Given the description of an element on the screen output the (x, y) to click on. 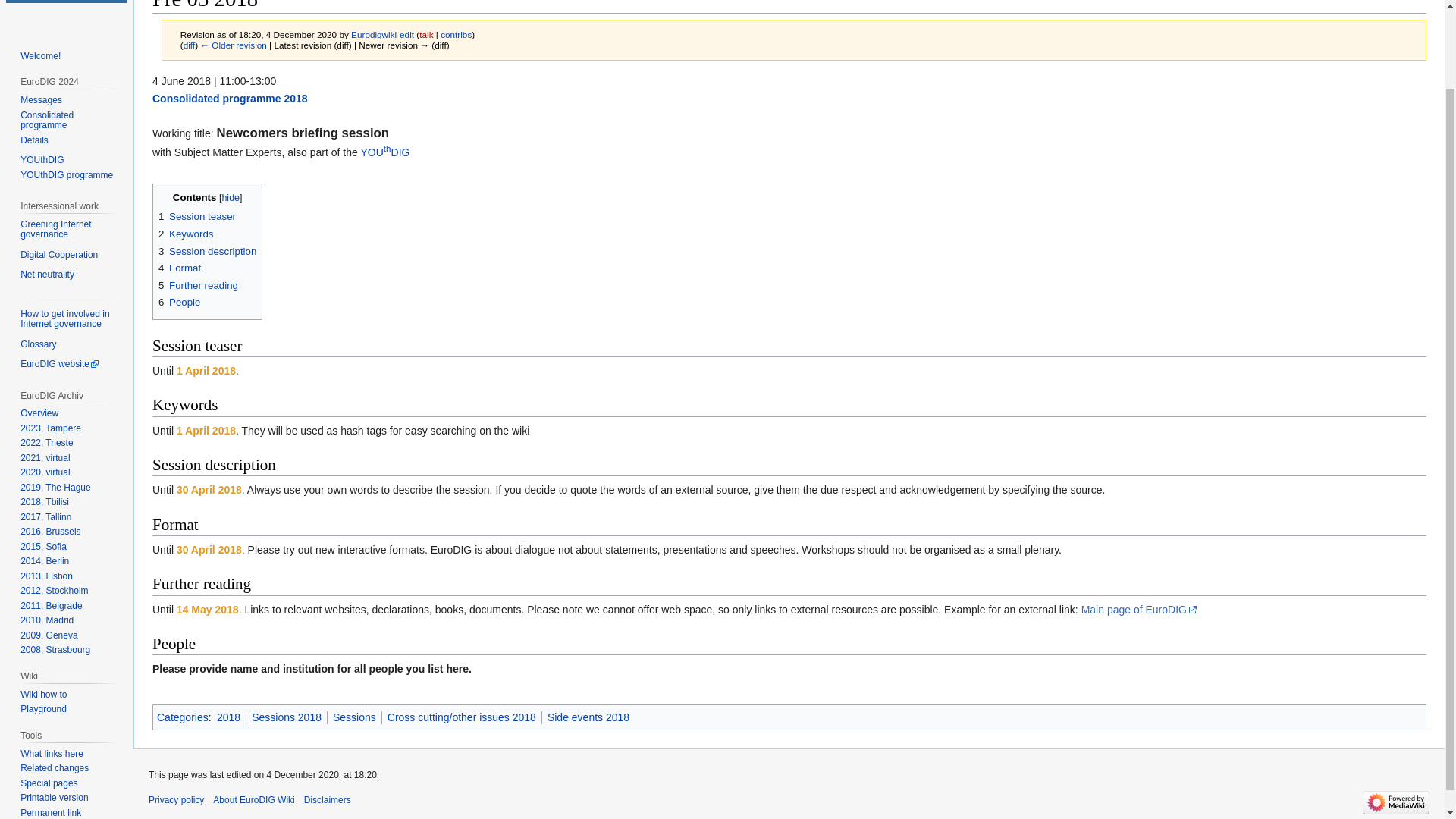
Pre 03 2018 (189, 44)
6 People (179, 301)
contribs (456, 34)
5 Further reading (198, 285)
YOUthDIG (384, 152)
Category:Side events 2018 (587, 717)
2018 (228, 717)
Categories (182, 717)
4 Format (179, 267)
YOUthDIG programme (66, 174)
